Given the description of an element on the screen output the (x, y) to click on. 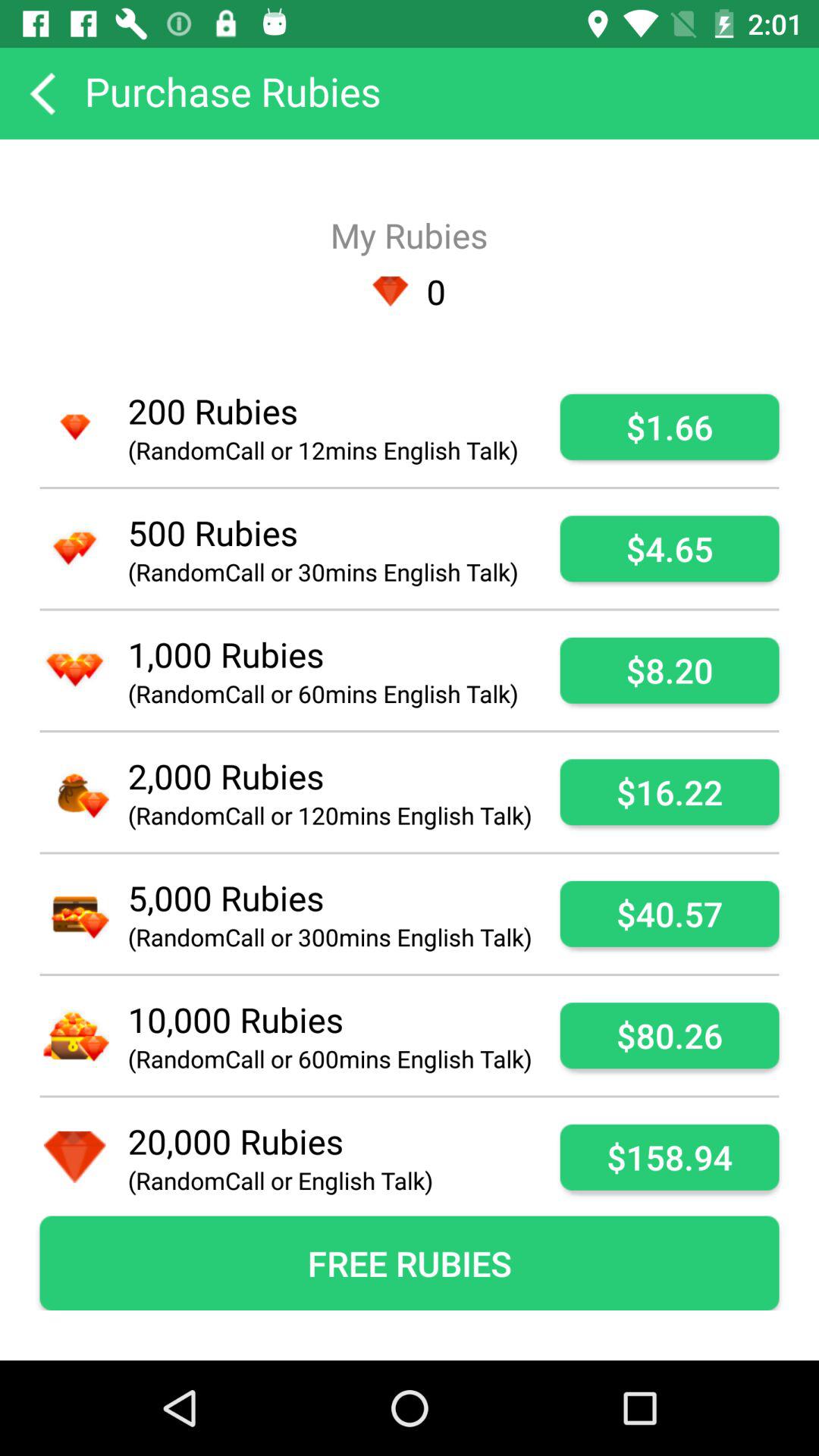
go back (42, 93)
